Given the description of an element on the screen output the (x, y) to click on. 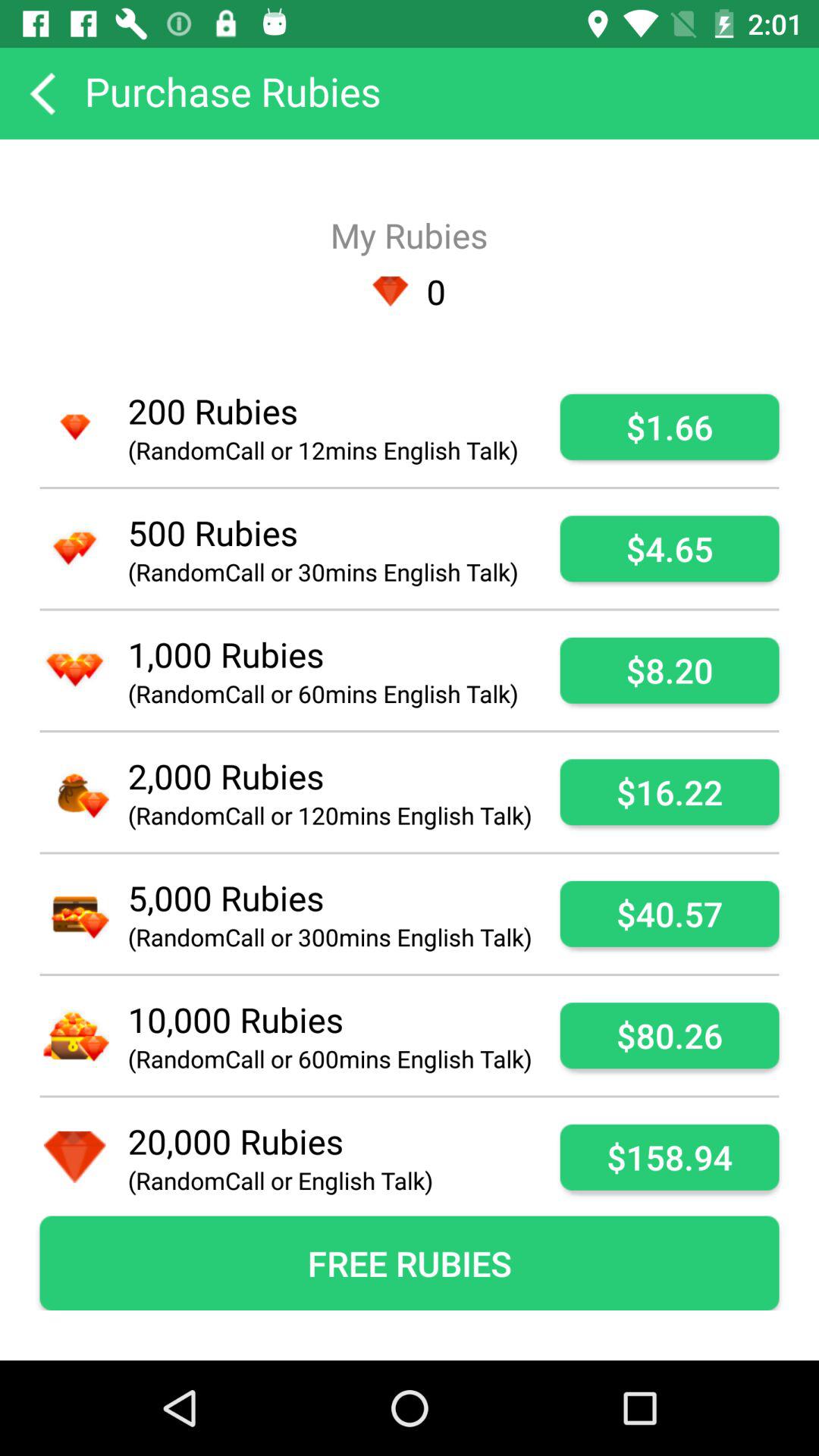
go back (42, 93)
